Given the description of an element on the screen output the (x, y) to click on. 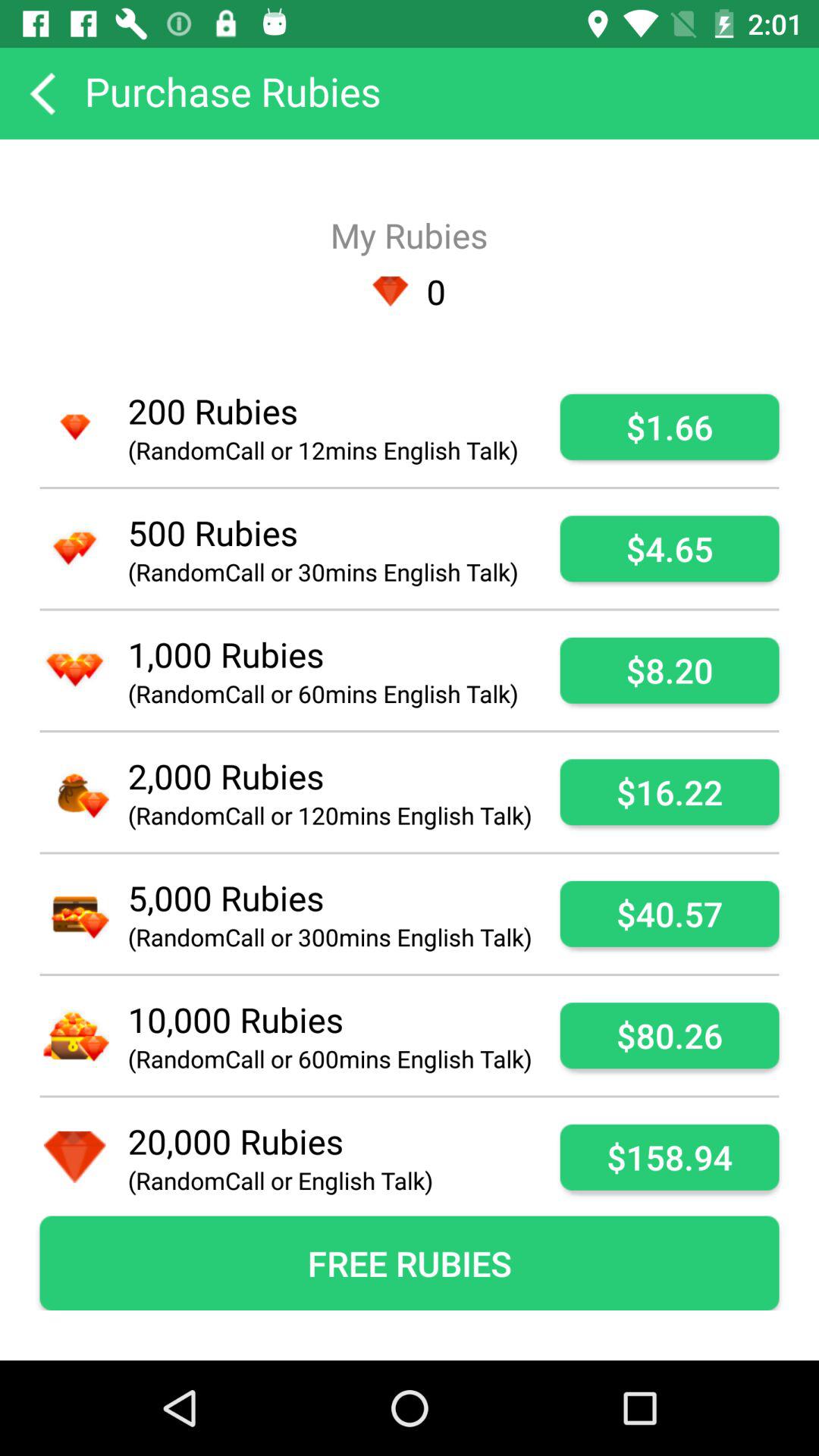
go back (42, 93)
